Given the description of an element on the screen output the (x, y) to click on. 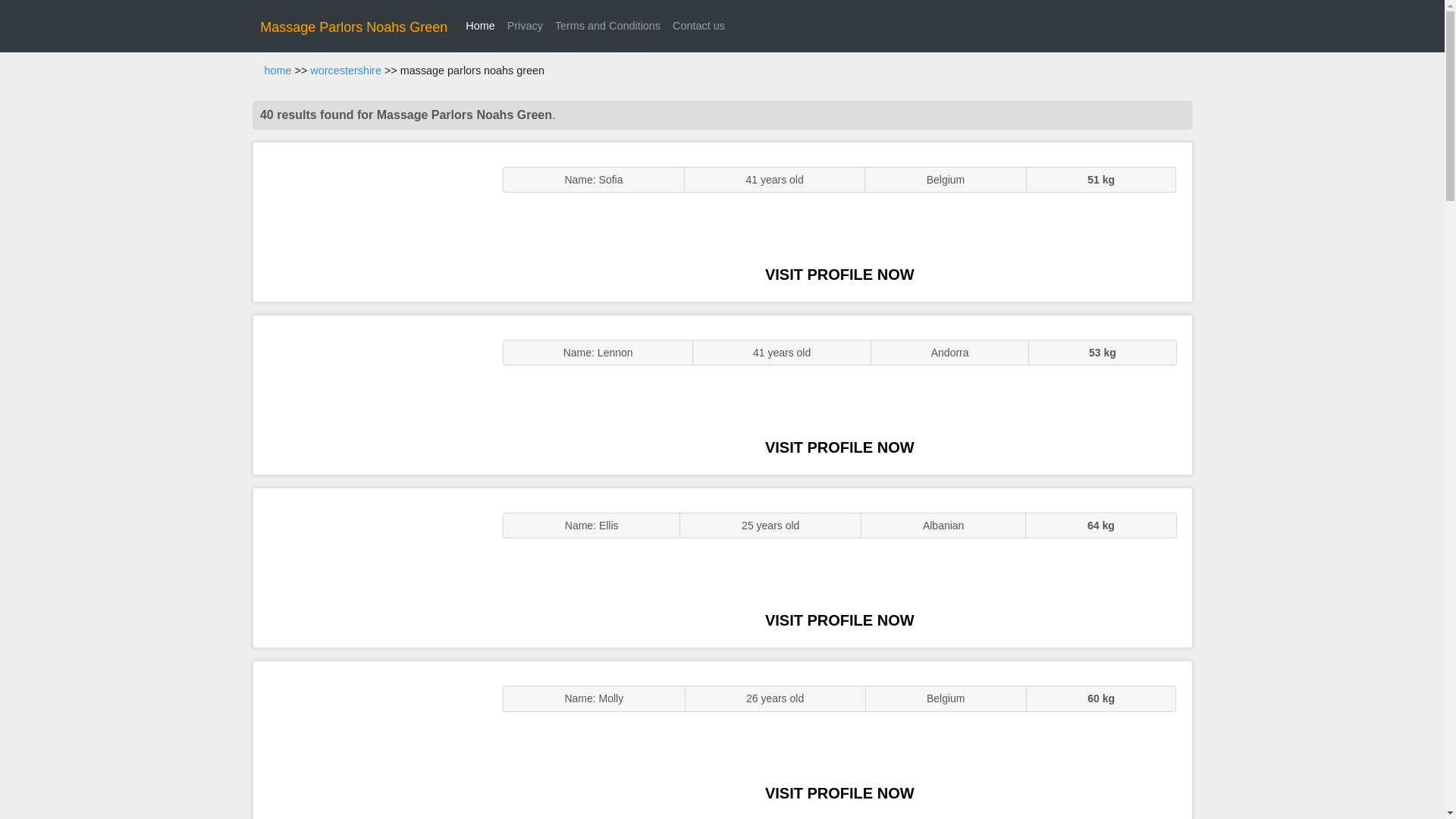
Sluts (370, 739)
Massage Parlors Noahs Green (353, 27)
VISIT PROFILE NOW (839, 619)
worcestershire (345, 70)
GFE (370, 395)
Sexy (370, 567)
Contact us (698, 25)
Terms and Conditions (607, 25)
VISIT PROFILE NOW (839, 446)
home (277, 70)
 ENGLISH STUNNER (370, 222)
VISIT PROFILE NOW (839, 274)
VISIT PROFILE NOW (839, 792)
Privacy (524, 25)
